Given the description of an element on the screen output the (x, y) to click on. 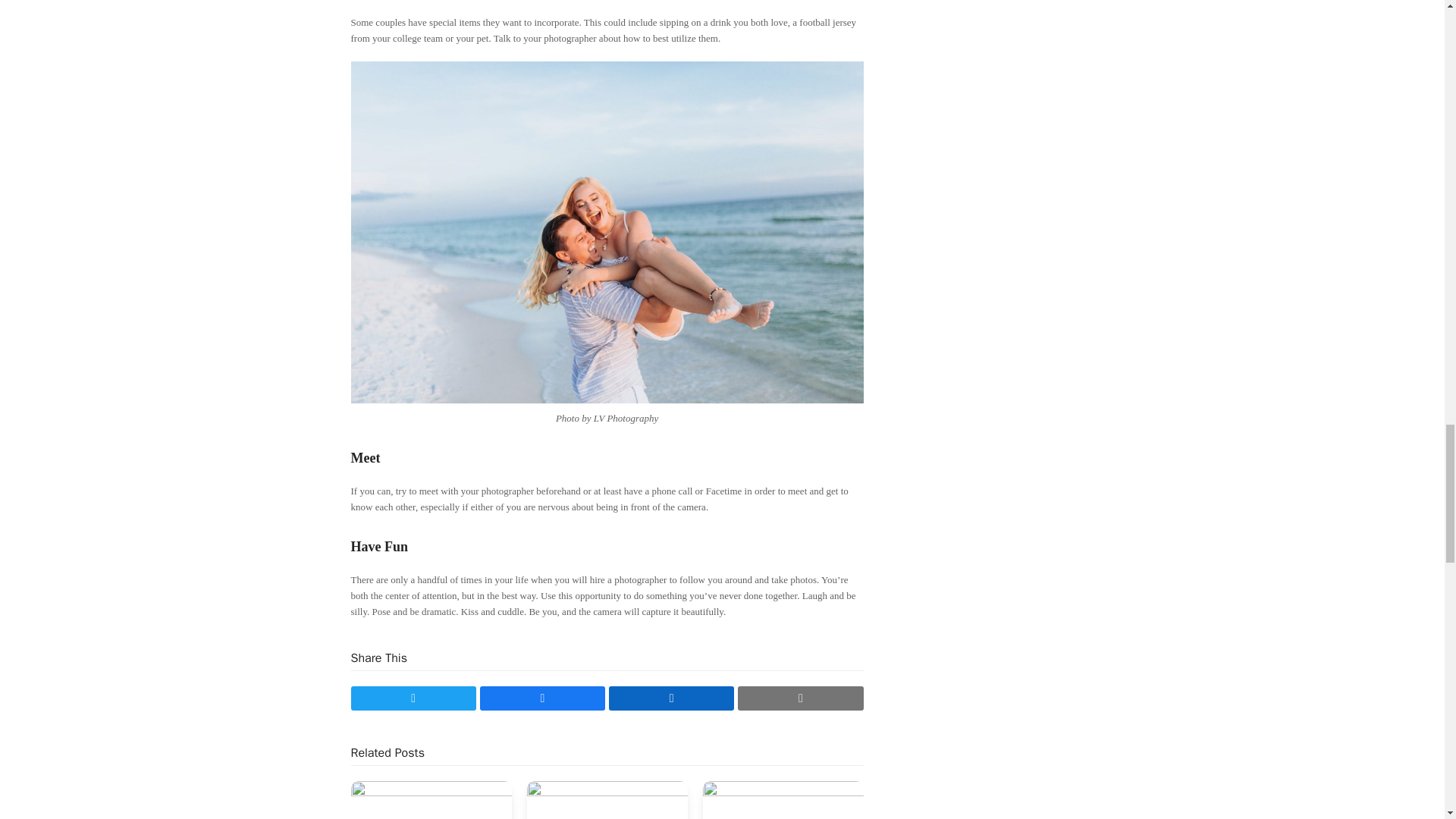
Share via Email (800, 698)
Share on Twitter (413, 698)
Share on LinkedIn (670, 698)
Share on Facebook (542, 698)
